Given the description of an element on the screen output the (x, y) to click on. 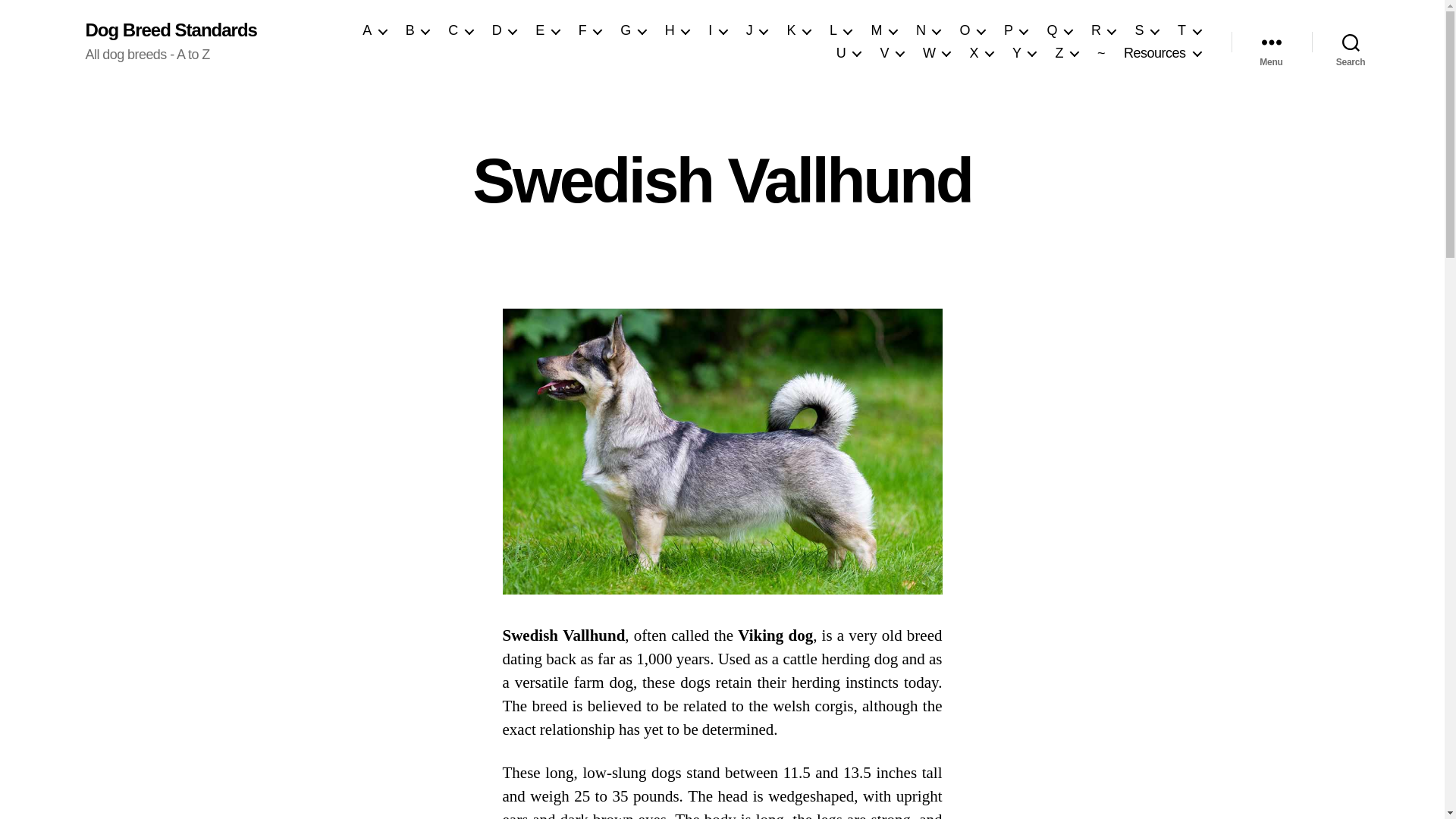
Swedish Vallhund (722, 451)
Dog Breed Standards (170, 30)
A (374, 30)
